Given the description of an element on the screen output the (x, y) to click on. 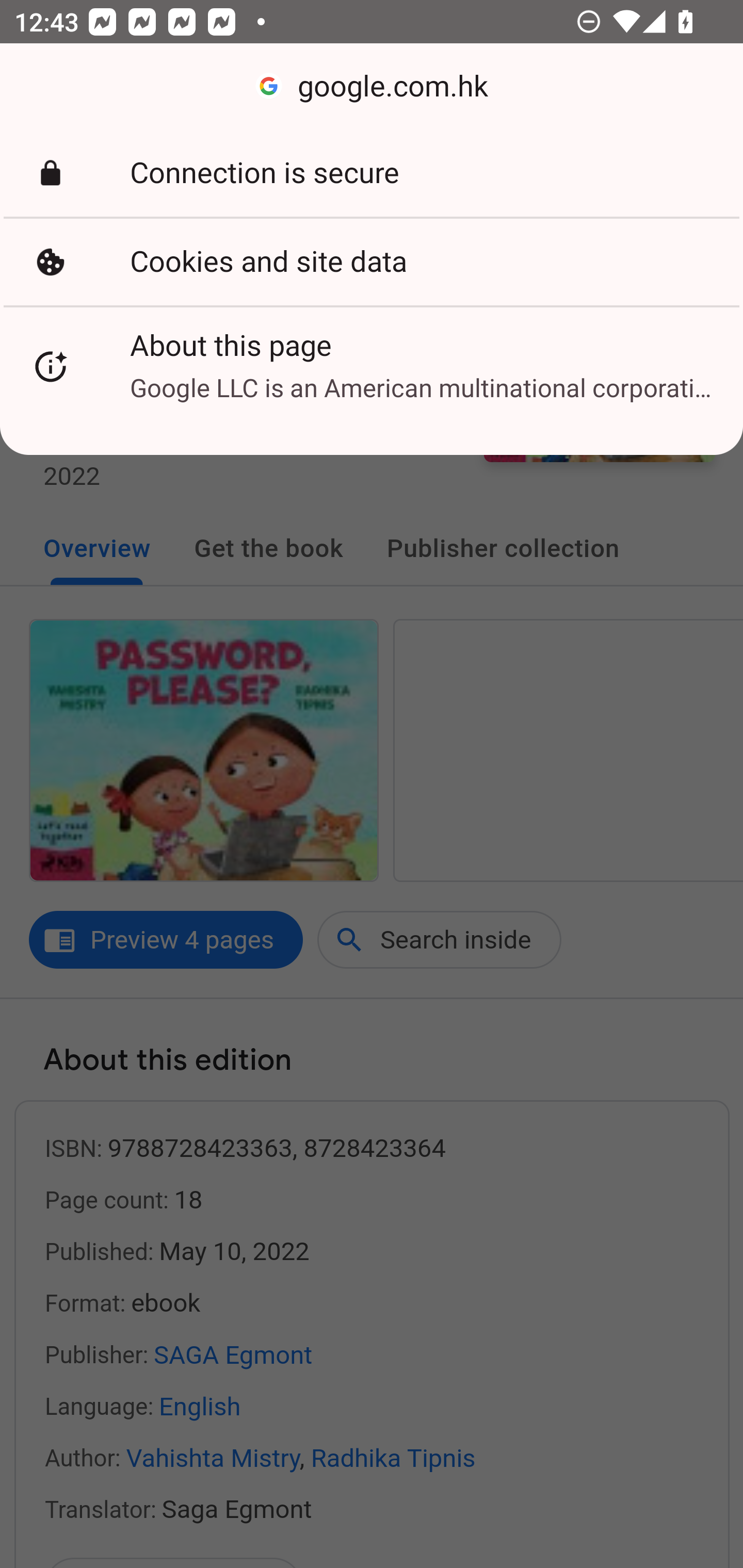
google.com.hk (371, 86)
Connection is secure (371, 173)
Cookies and site data (371, 261)
